Given the description of an element on the screen output the (x, y) to click on. 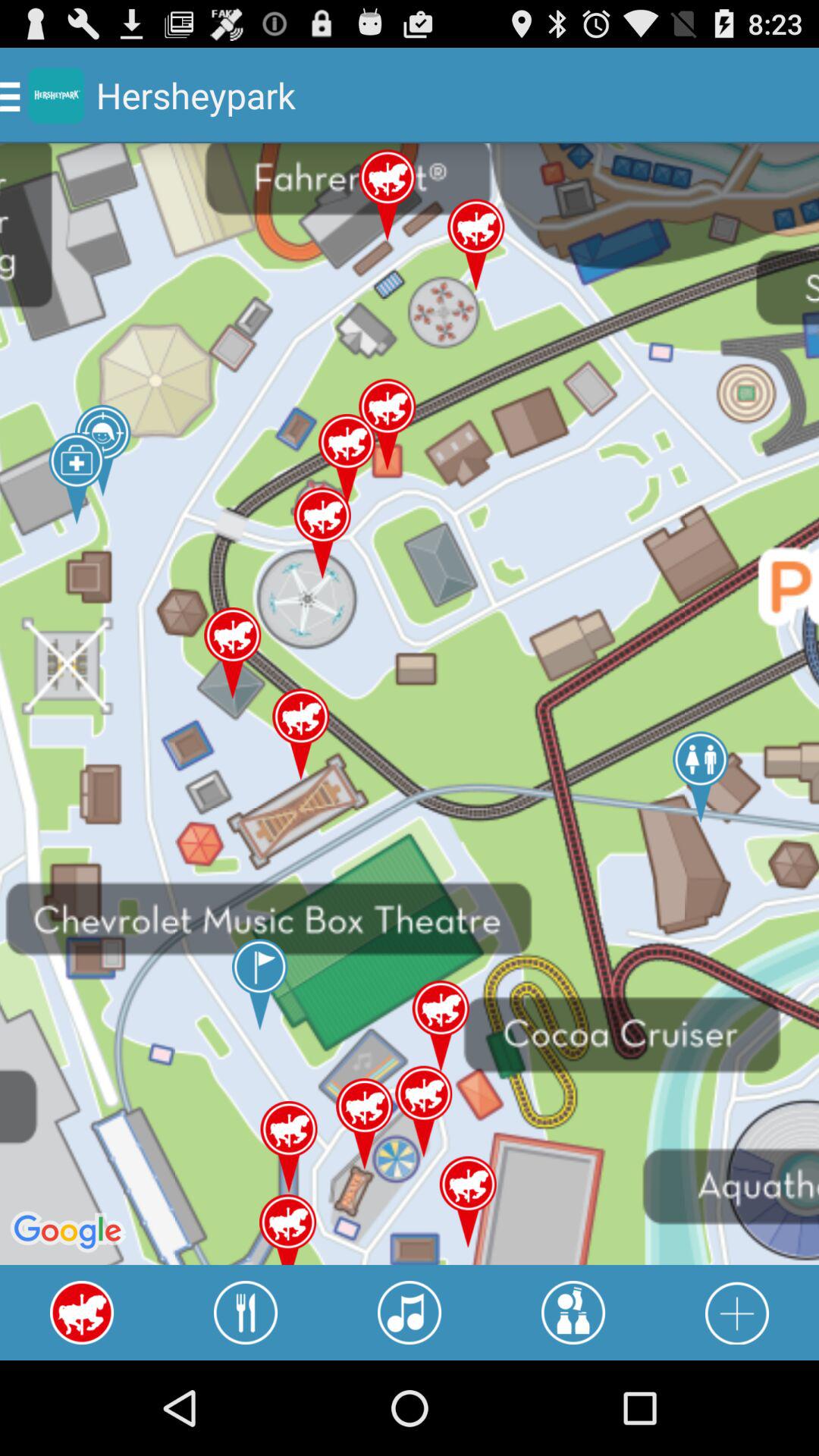
go to attractions (573, 1312)
